Given the description of an element on the screen output the (x, y) to click on. 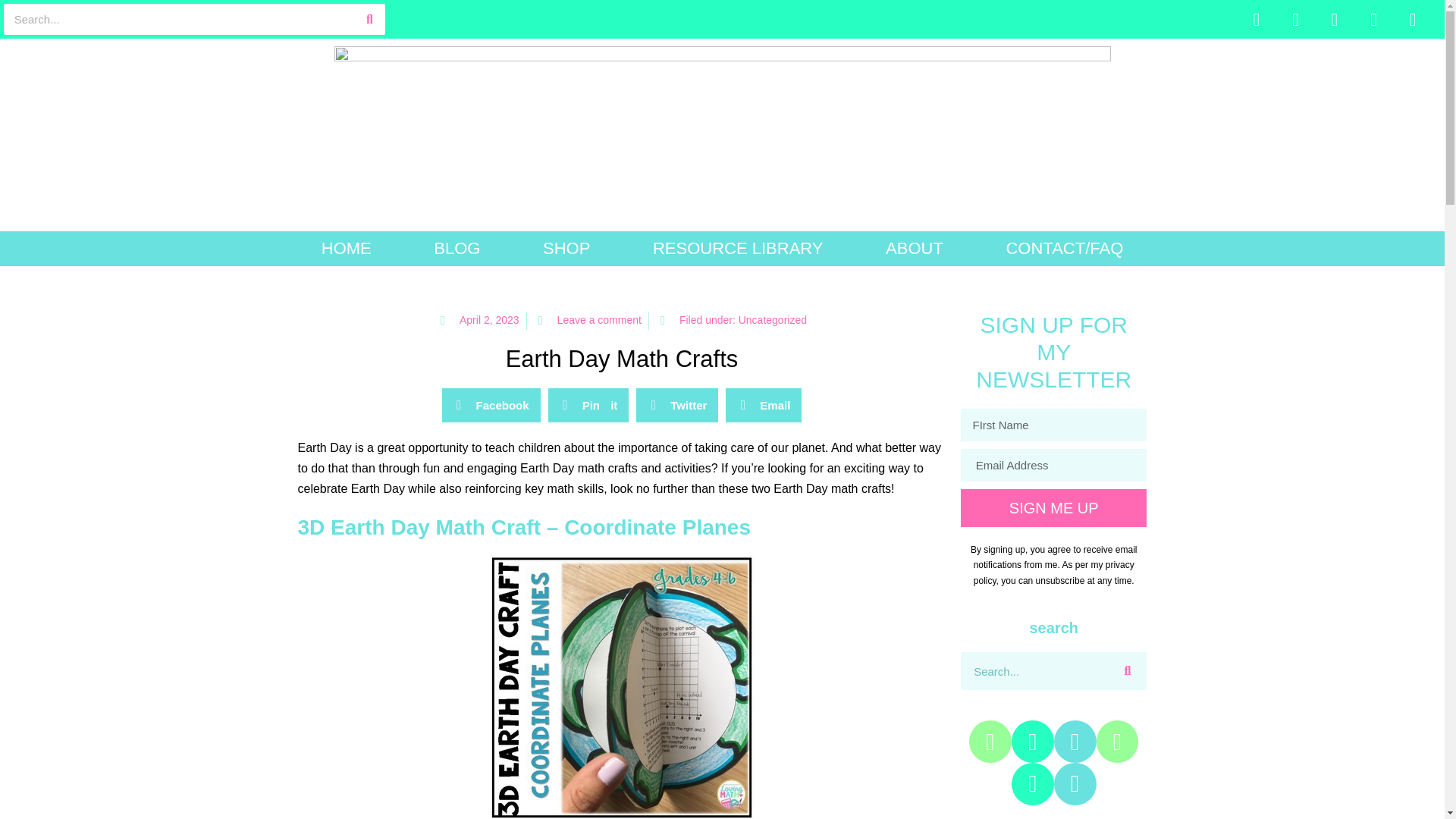
BLOG (457, 248)
SIGN ME UP (1053, 507)
HOME (346, 248)
RESOURCE LIBRARY (737, 248)
SHOP (566, 248)
Leave a comment (588, 321)
Uncategorized (772, 319)
ABOUT (914, 248)
